Given the description of an element on the screen output the (x, y) to click on. 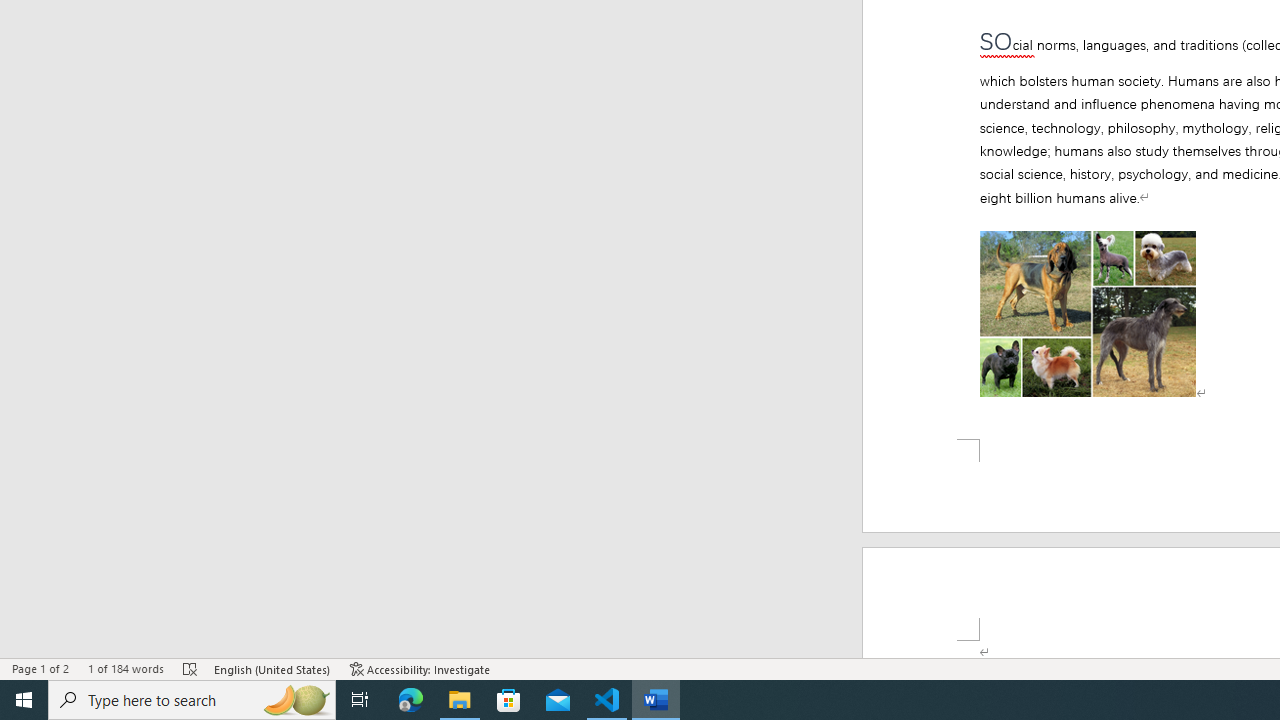
Page Number Page 1 of 2 (39, 668)
Morphological variation in six dogs (1087, 313)
